Given the description of an element on the screen output the (x, y) to click on. 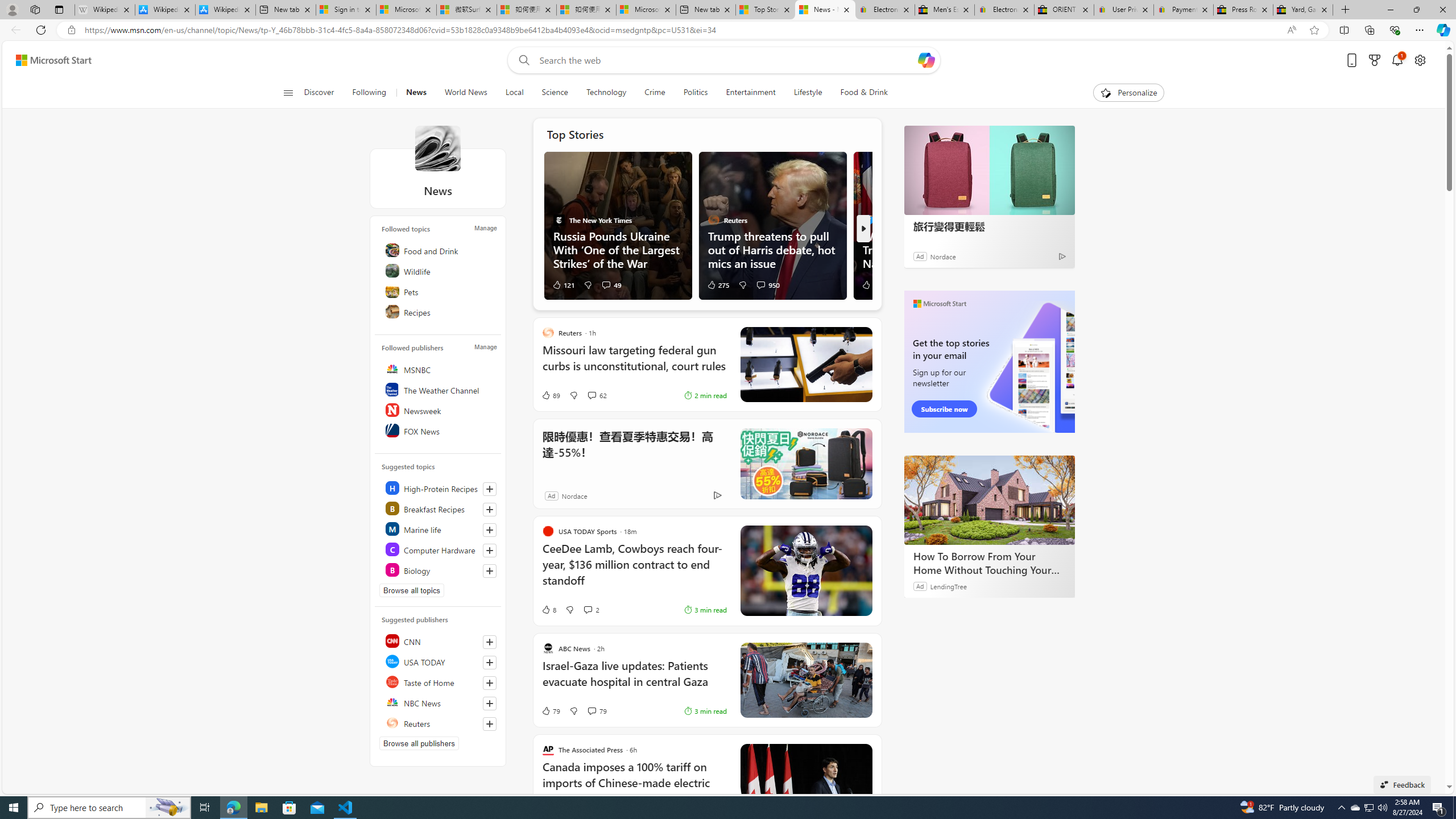
Skip to footer (46, 59)
121 Like (563, 284)
USA TODAY (439, 661)
View comments 79 Comment (591, 710)
MSNBC (439, 369)
Wikipedia - Sleeping (104, 9)
News (416, 92)
Food & Drink (864, 92)
Technology (605, 92)
Wildlife (439, 270)
View comments 79 Comment (596, 710)
